Given the description of an element on the screen output the (x, y) to click on. 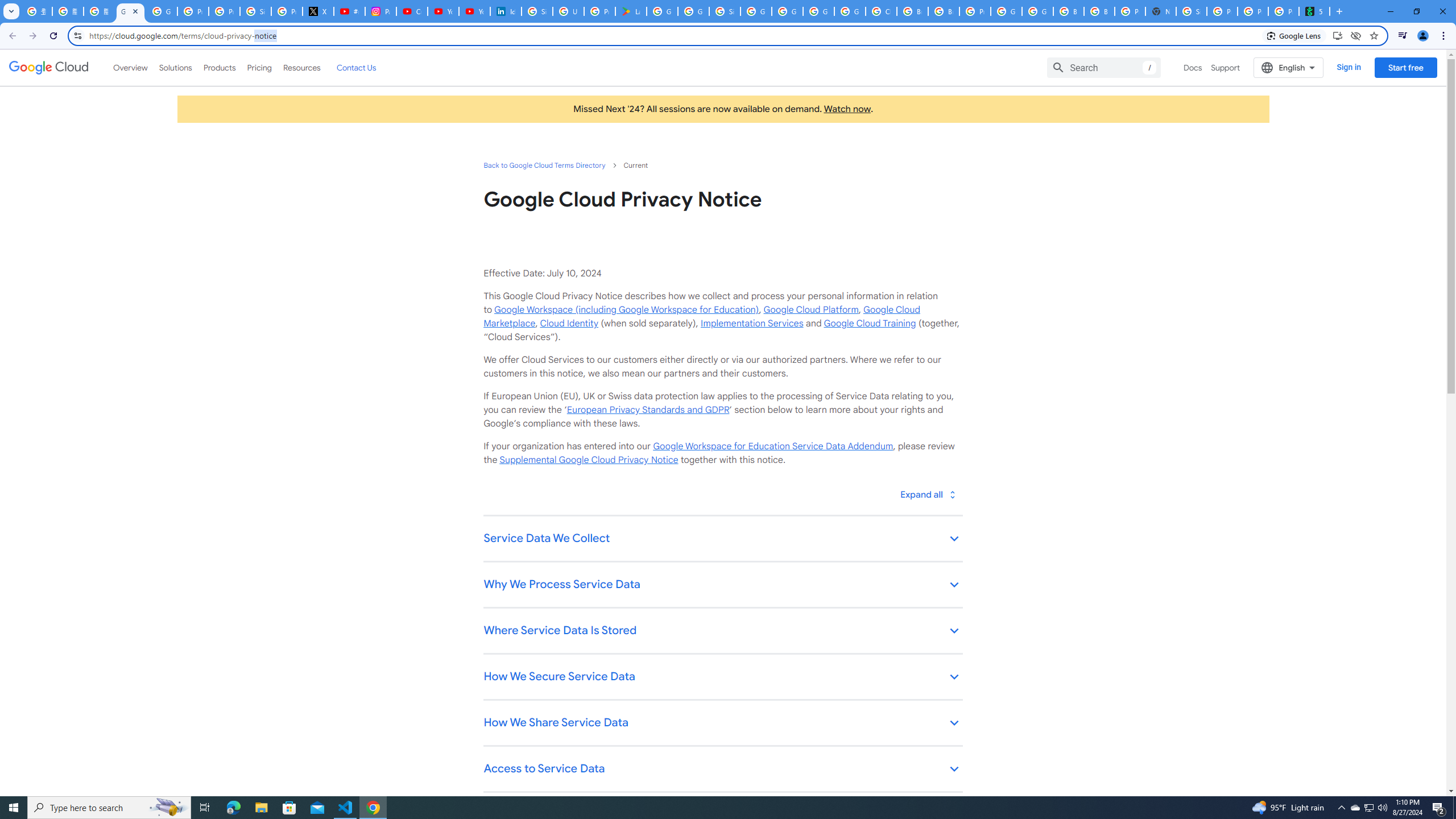
Sign in - Google Accounts (255, 11)
Privacy Help Center - Policies Help (223, 11)
YouTube Culture & Trends - YouTube Top 10, 2021 (474, 11)
Where Service Data Is Stored keyboard_arrow_down (722, 631)
Browse Chrome as a guest - Computer - Google Chrome Help (912, 11)
New Tab (1160, 11)
Service Data We Collect keyboard_arrow_down (722, 539)
Browse Chrome as a guest - Computer - Google Chrome Help (1068, 11)
